Given the description of an element on the screen output the (x, y) to click on. 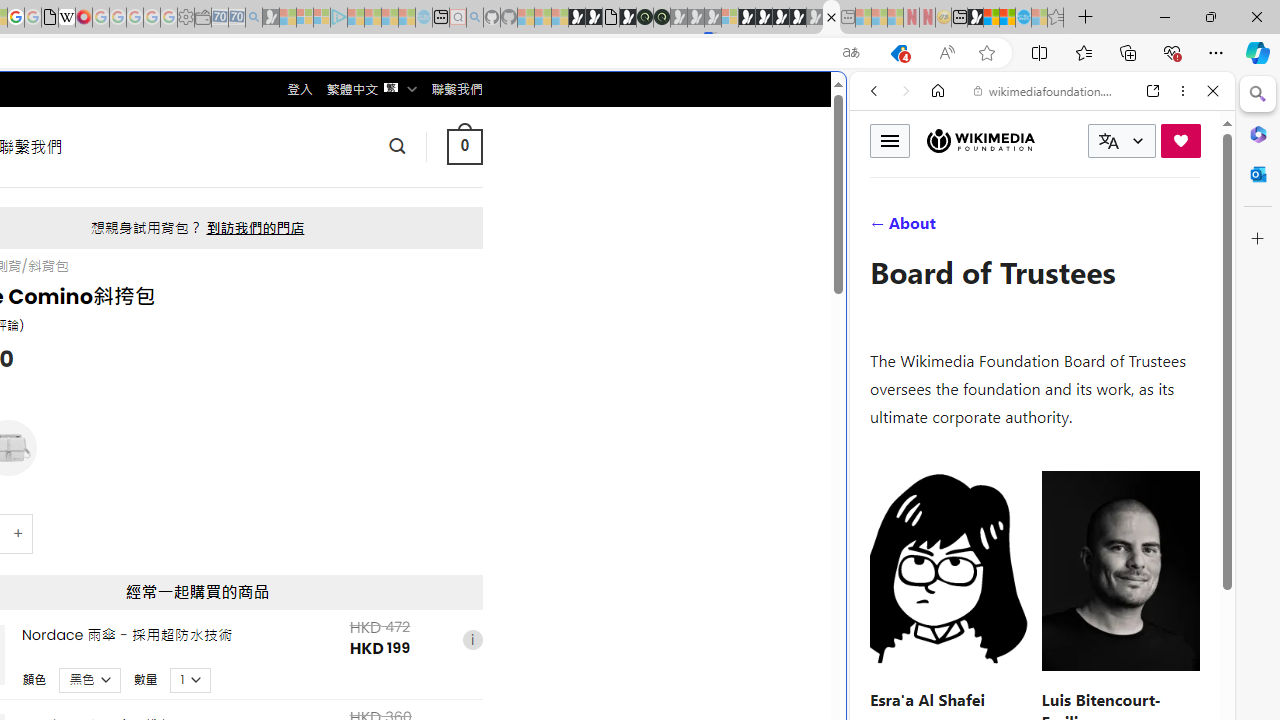
Wikimedia Foundation (980, 141)
Future Focus Report 2024 (661, 17)
Wiktionary (1034, 669)
Target page - Wikipedia (66, 17)
